Given the description of an element on the screen output the (x, y) to click on. 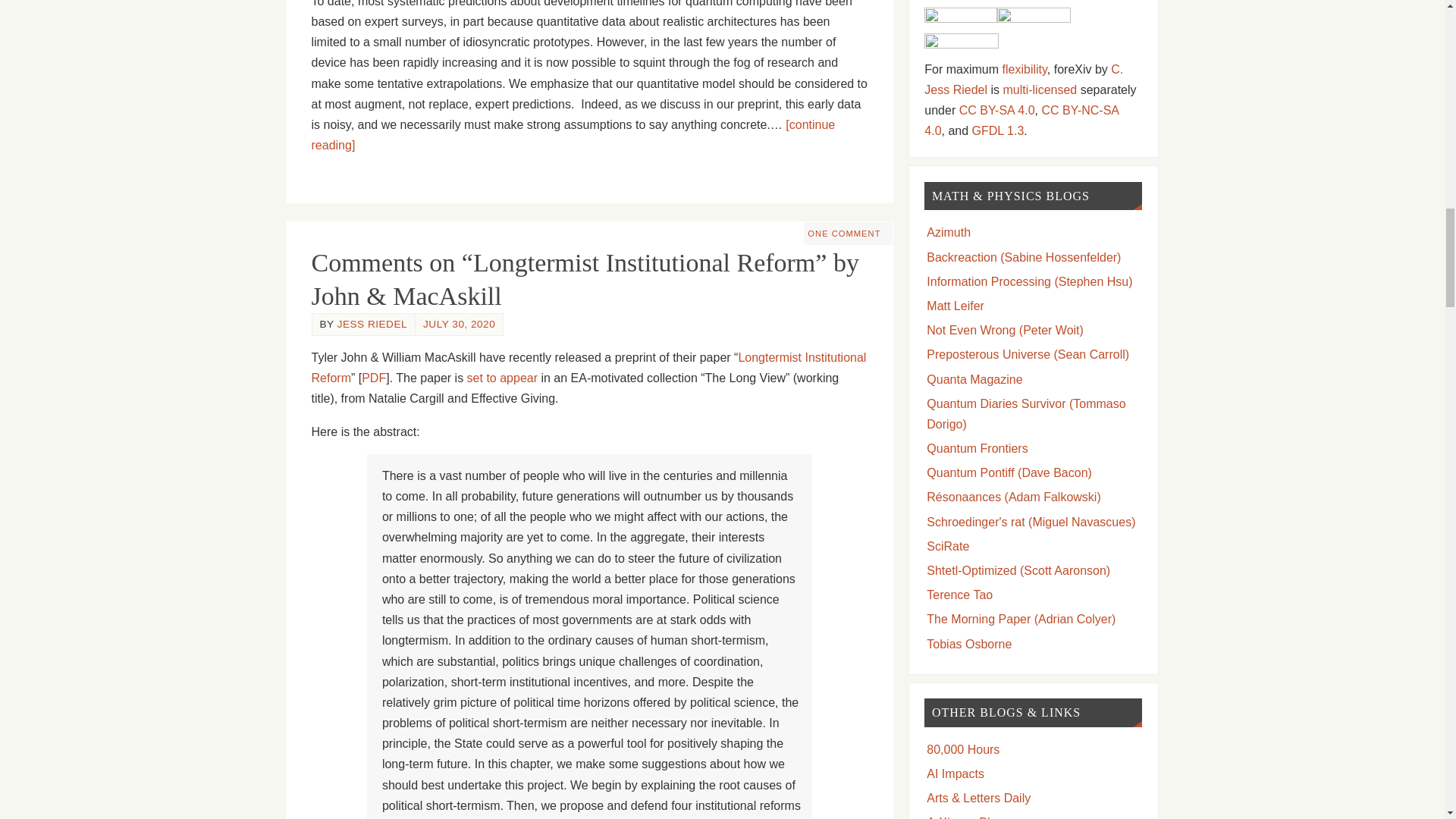
ONE COMMENT (844, 233)
JULY 30, 2020 (459, 324)
JESS RIEDEL (372, 324)
